Given the description of an element on the screen output the (x, y) to click on. 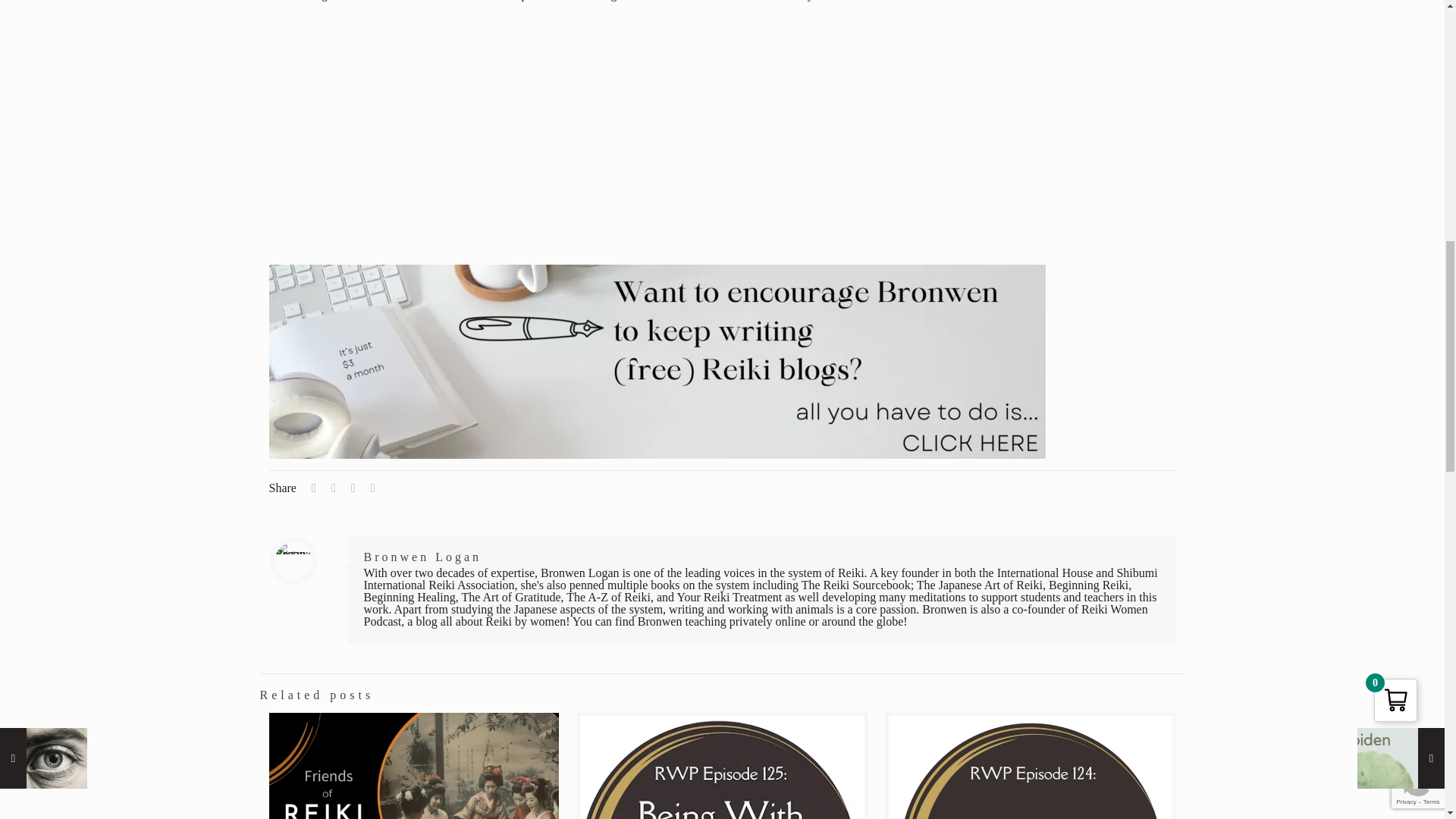
YouTube video player (481, 131)
